Given the description of an element on the screen output the (x, y) to click on. 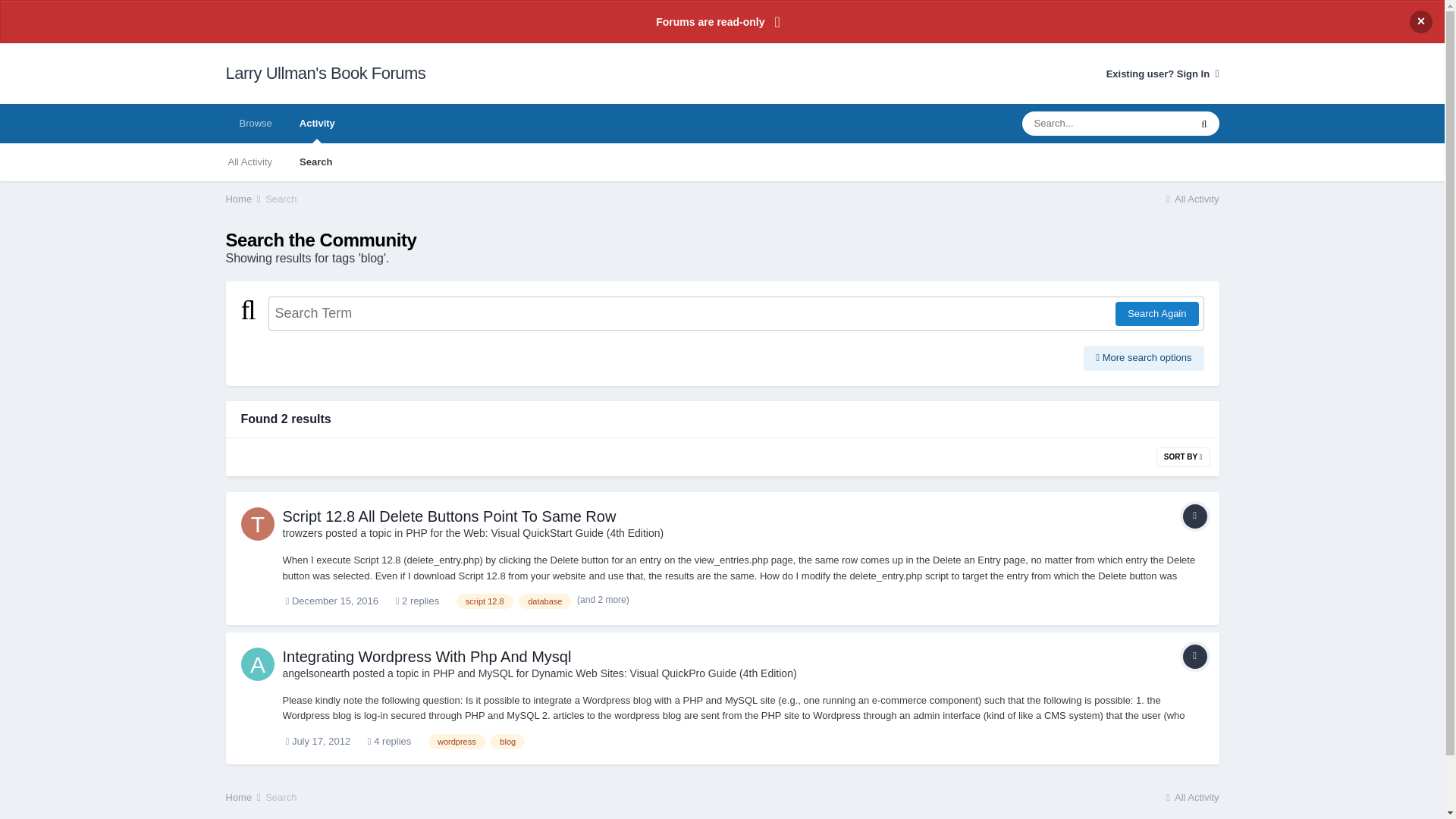
Activity (317, 123)
All Activity (1190, 197)
Search Again (1156, 313)
Larry Ullman's Book Forums (325, 73)
More search options (1143, 357)
Find other content tagged with 'wordpress' (456, 741)
Find other content tagged with 'database' (544, 601)
Home (244, 197)
Go to trowzers's profile (301, 532)
All Activity (249, 161)
